Given the description of an element on the screen output the (x, y) to click on. 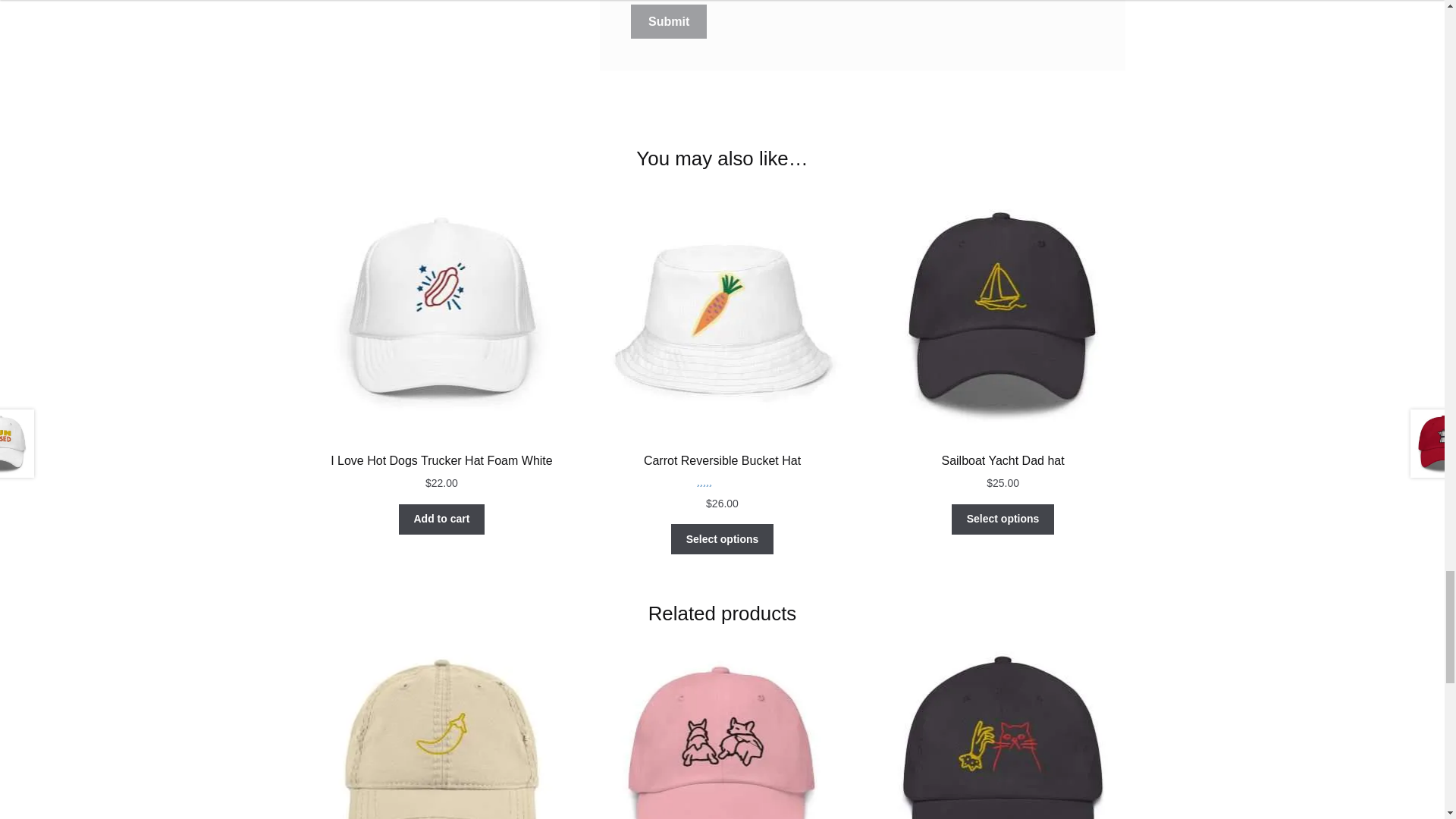
Add to cart (441, 519)
Submit (668, 21)
Submit (668, 21)
